Given the description of an element on the screen output the (x, y) to click on. 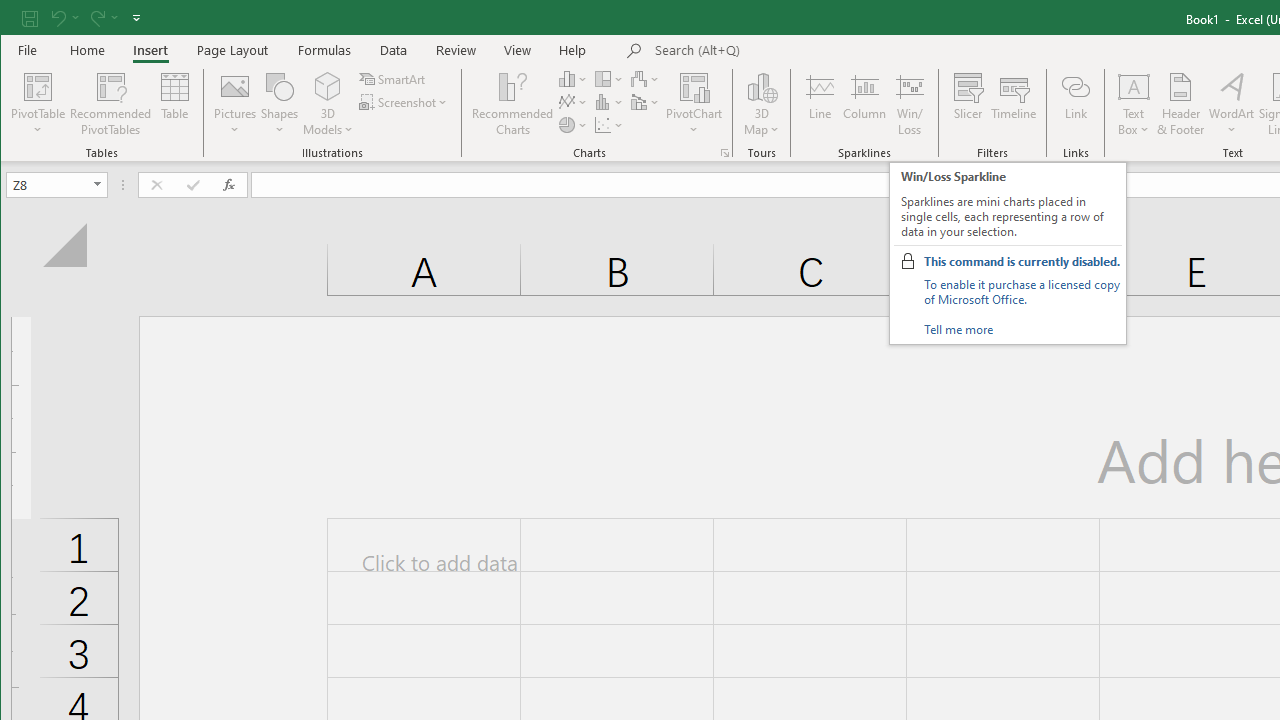
PivotChart (694, 86)
This command is currently disabled. (1021, 261)
Line (819, 104)
PivotChart (694, 104)
Insert Pie or Doughnut Chart (573, 124)
